Given the description of an element on the screen output the (x, y) to click on. 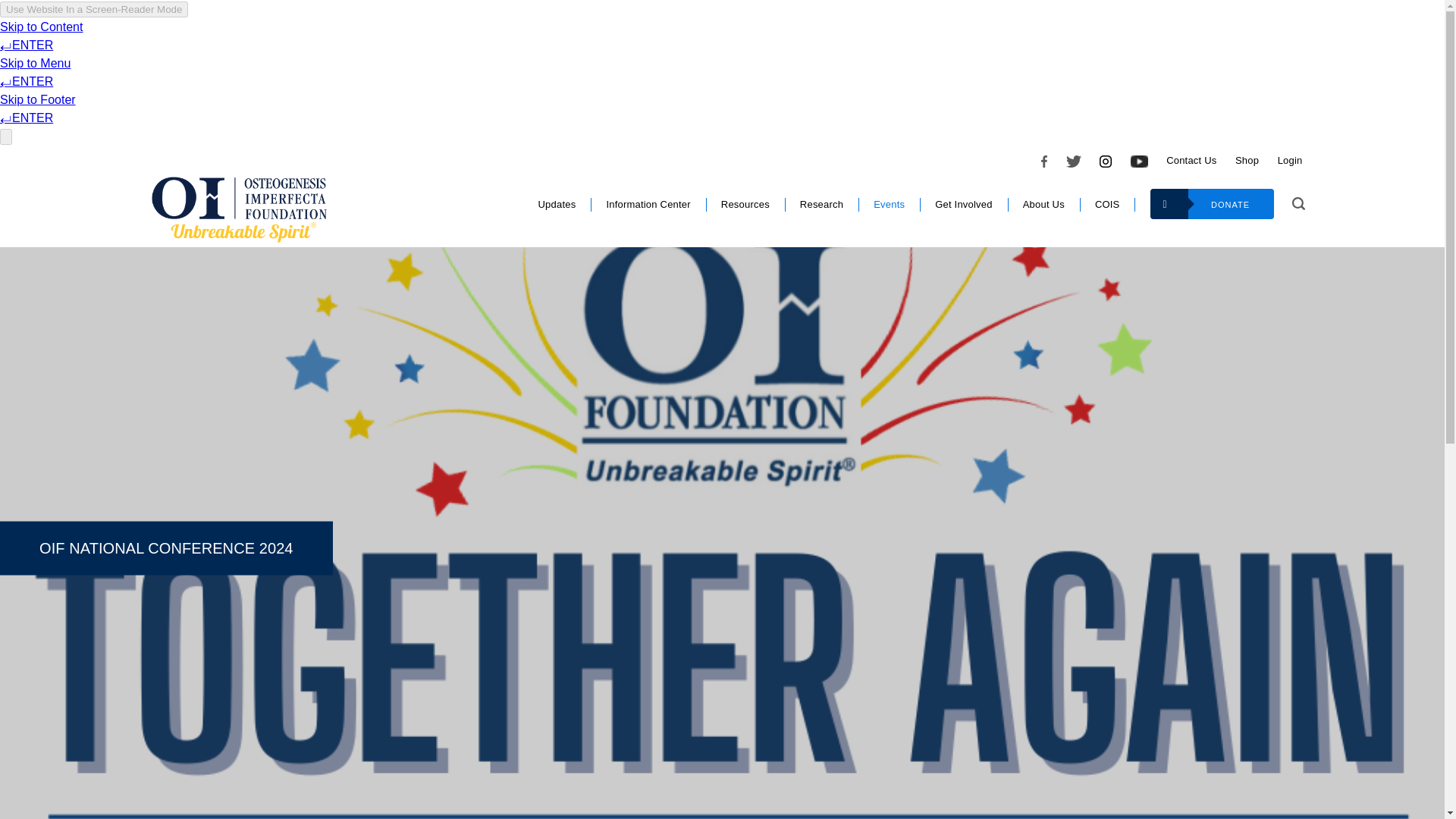
Login (1290, 160)
Events (888, 204)
Information Center (647, 204)
Shop (1246, 160)
Contact Us (1190, 160)
Resources (745, 204)
Research (821, 204)
Updates (556, 204)
